Given the description of an element on the screen output the (x, y) to click on. 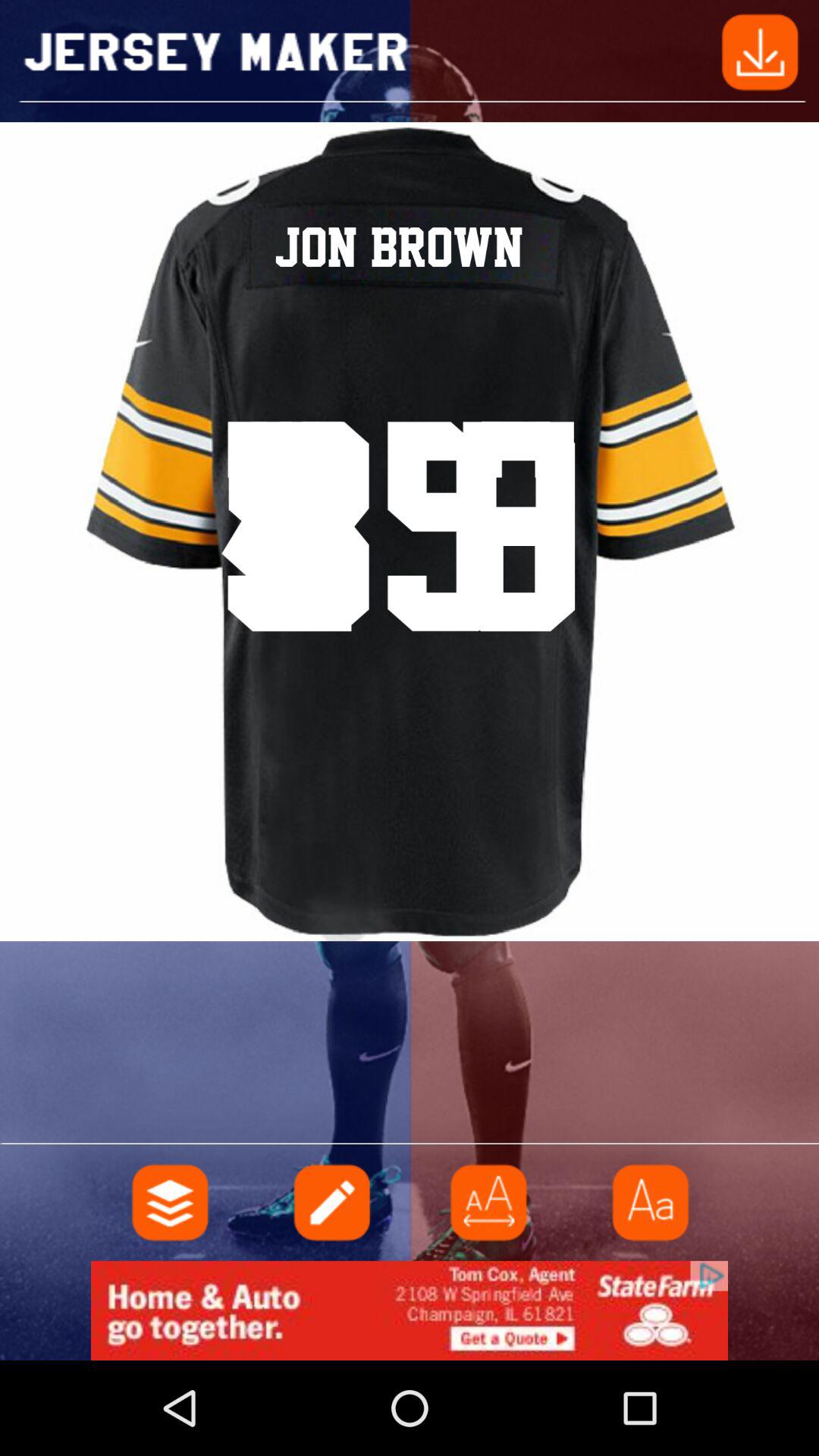
share the article (759, 50)
